Given the description of an element on the screen output the (x, y) to click on. 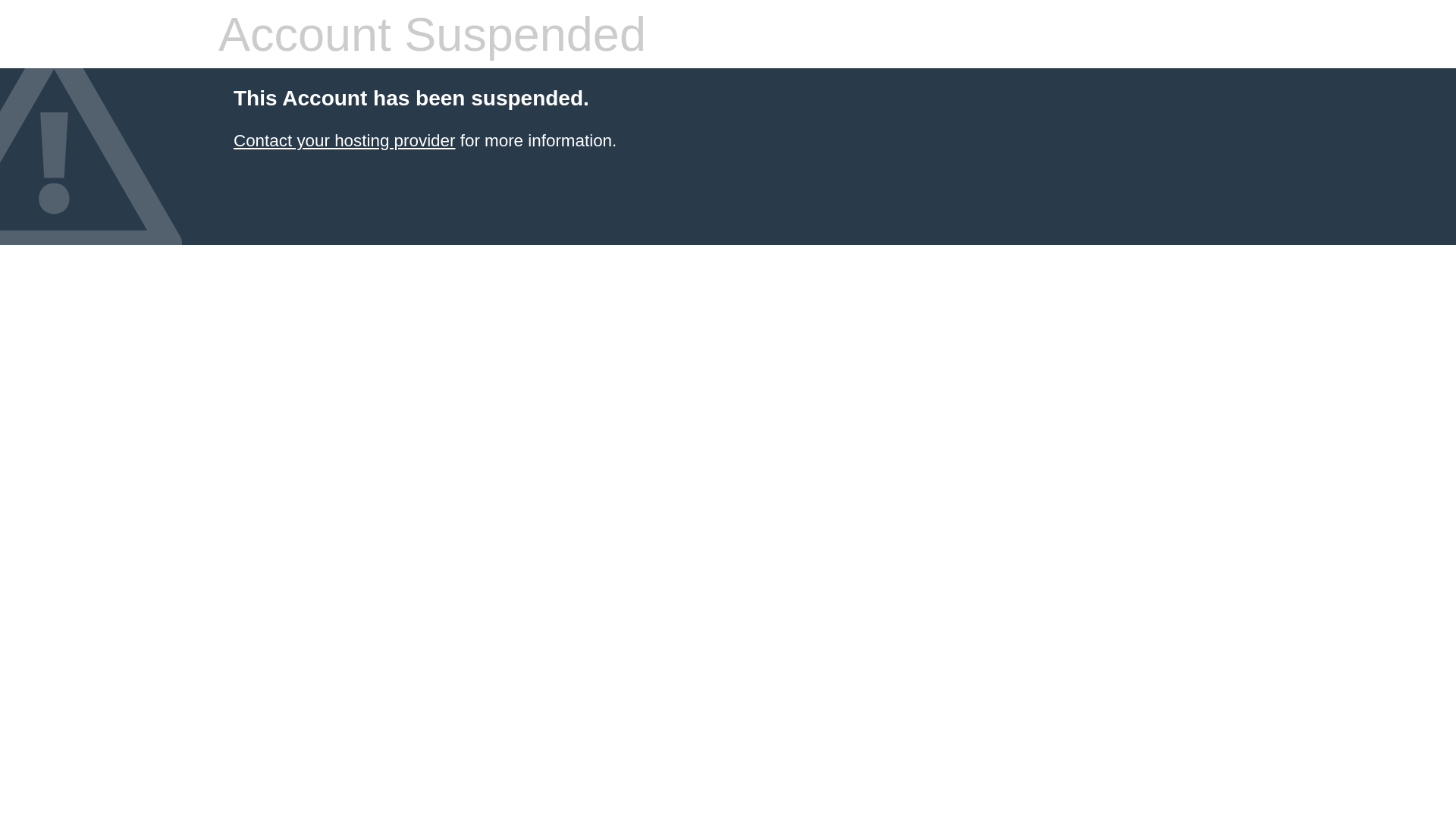
Contact your hosting provider Element type: text (344, 140)
